Given the description of an element on the screen output the (x, y) to click on. 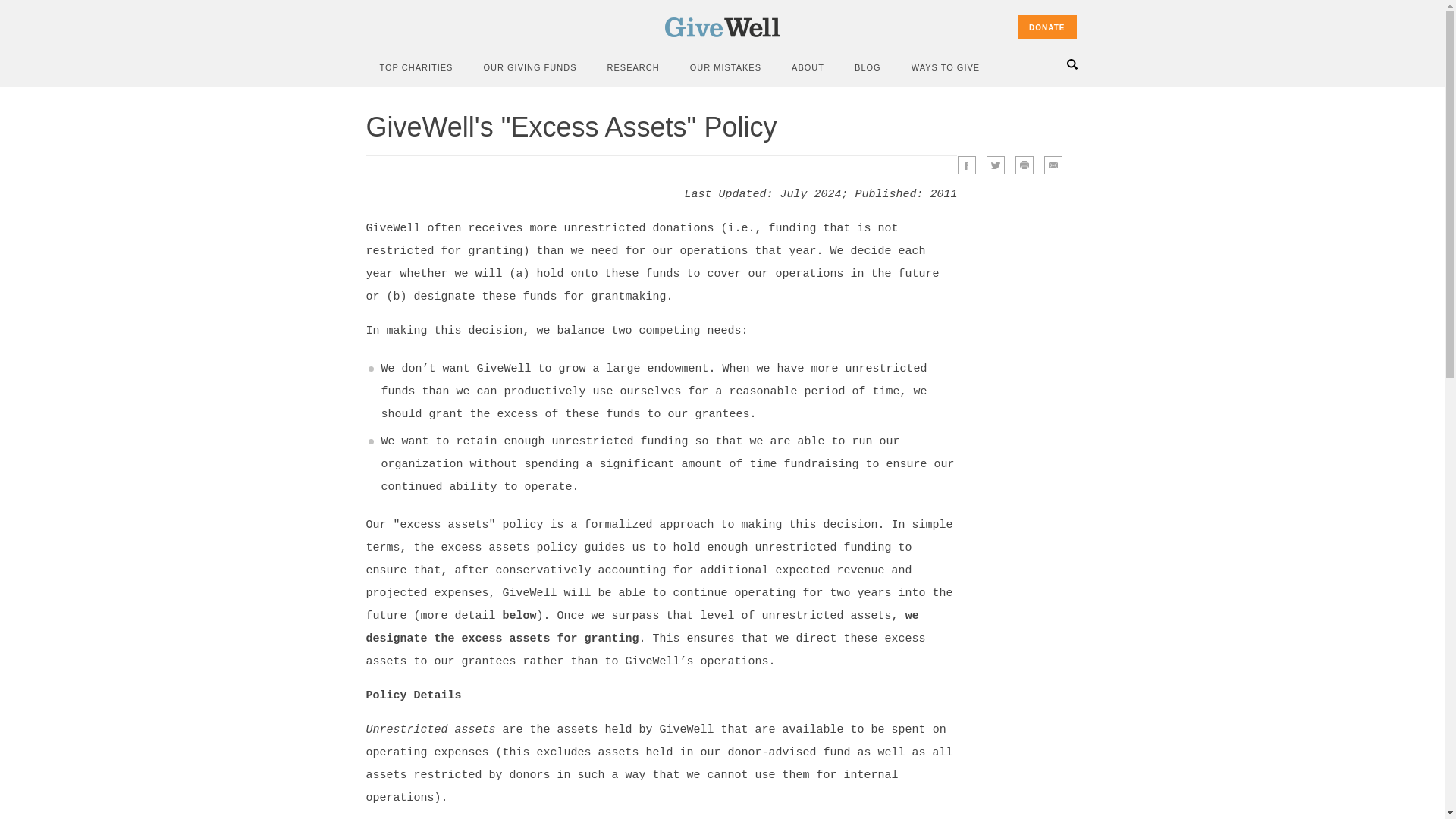
OUR MISTAKES (725, 67)
ABOUT (808, 67)
Printer-friendly version of this page. (1023, 165)
Home (720, 33)
DONATE (1046, 27)
Send this page by email. (1052, 165)
Share on Twitter (994, 165)
BLOG (867, 67)
RESEARCH (633, 67)
WAYS TO GIVE (945, 67)
Share on Facebook (965, 165)
OUR GIVING FUNDS (529, 67)
TOP CHARITIES (415, 67)
